Given the description of an element on the screen output the (x, y) to click on. 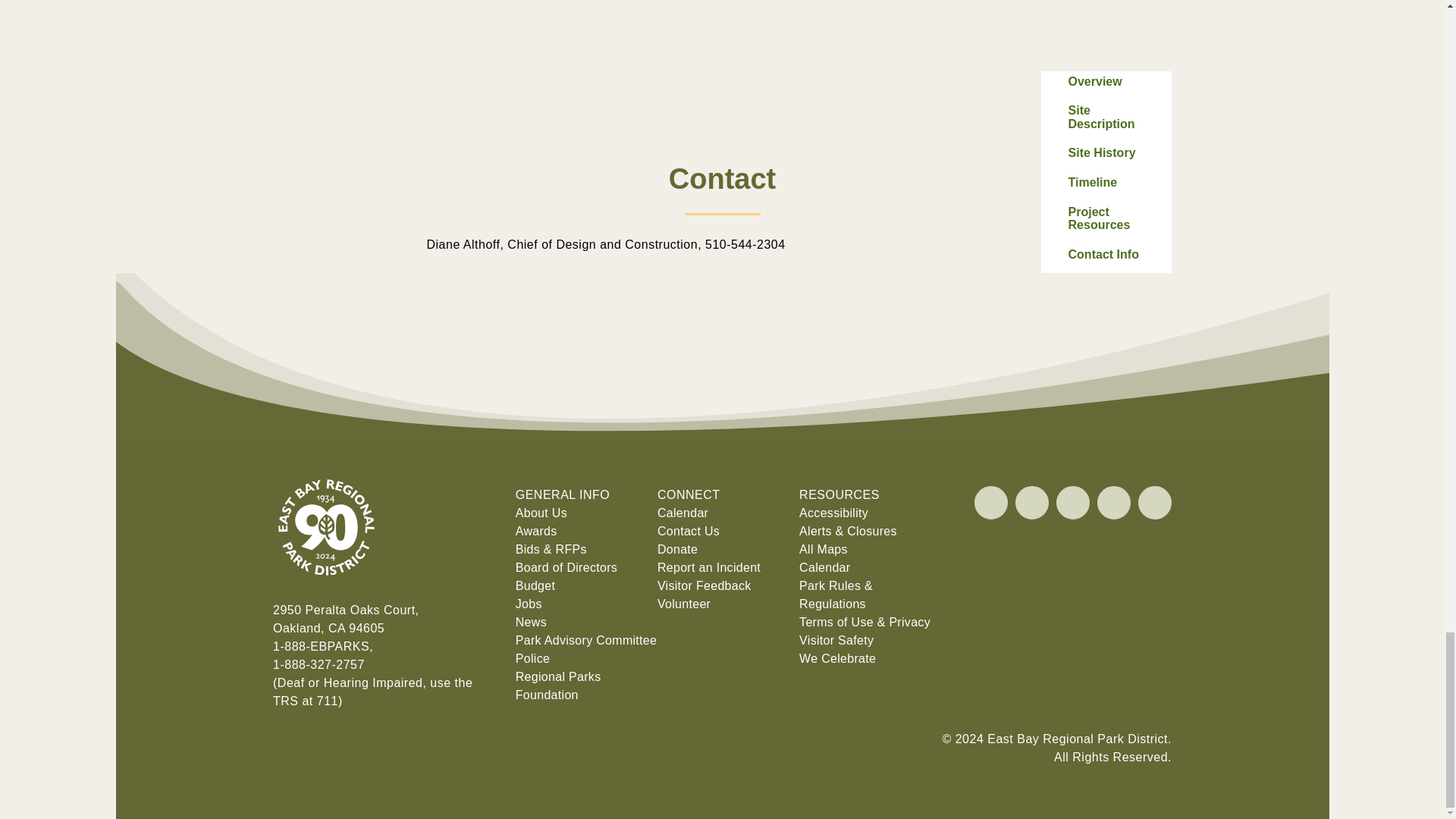
East Bay Parks (326, 591)
Crown Beach Sand Pumping (721, 80)
